Given the description of an element on the screen output the (x, y) to click on. 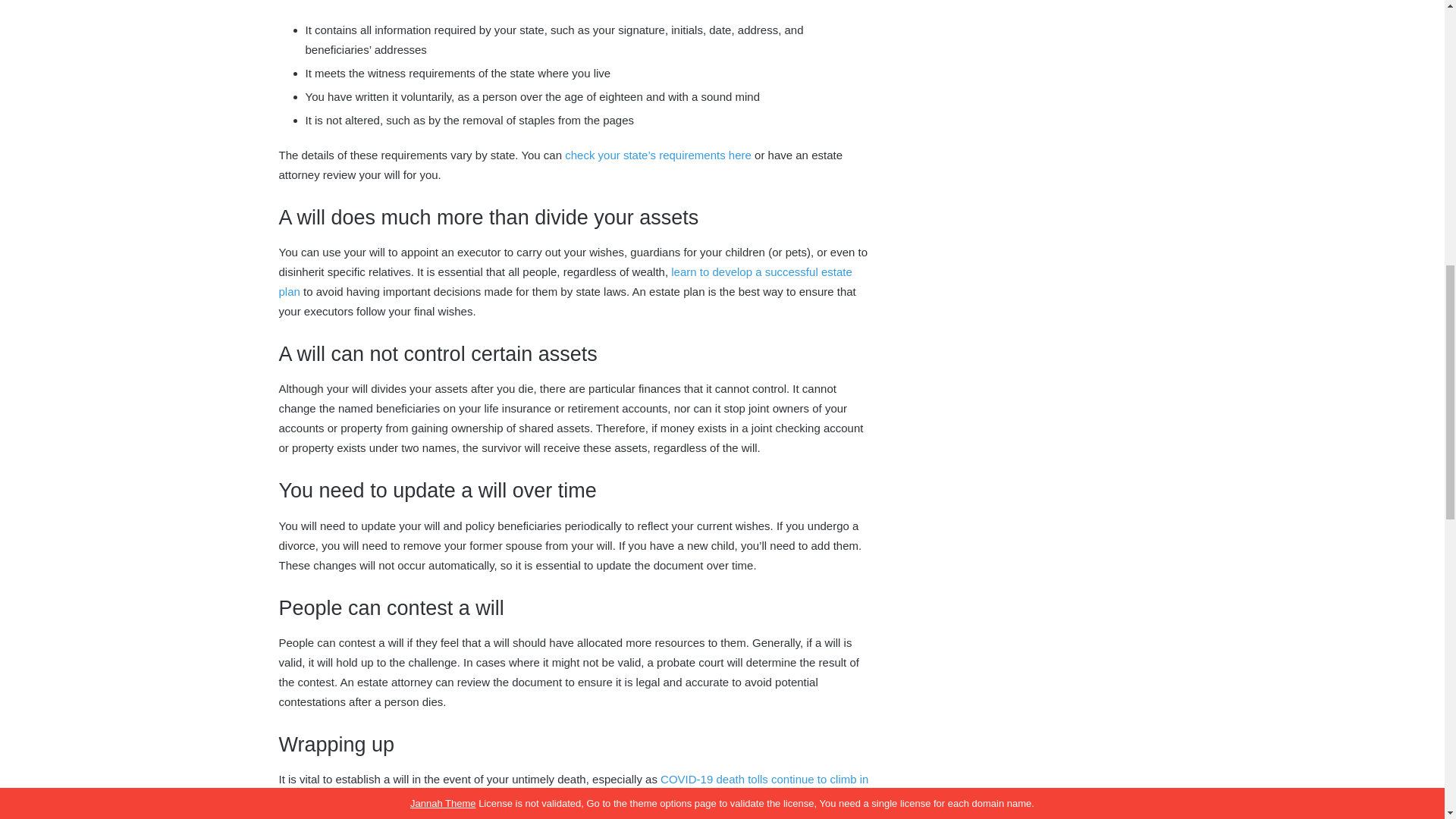
learn to develop a successful estate plan (565, 281)
COVID-19 death tolls continue to climb in the United States (574, 789)
